Given the description of an element on the screen output the (x, y) to click on. 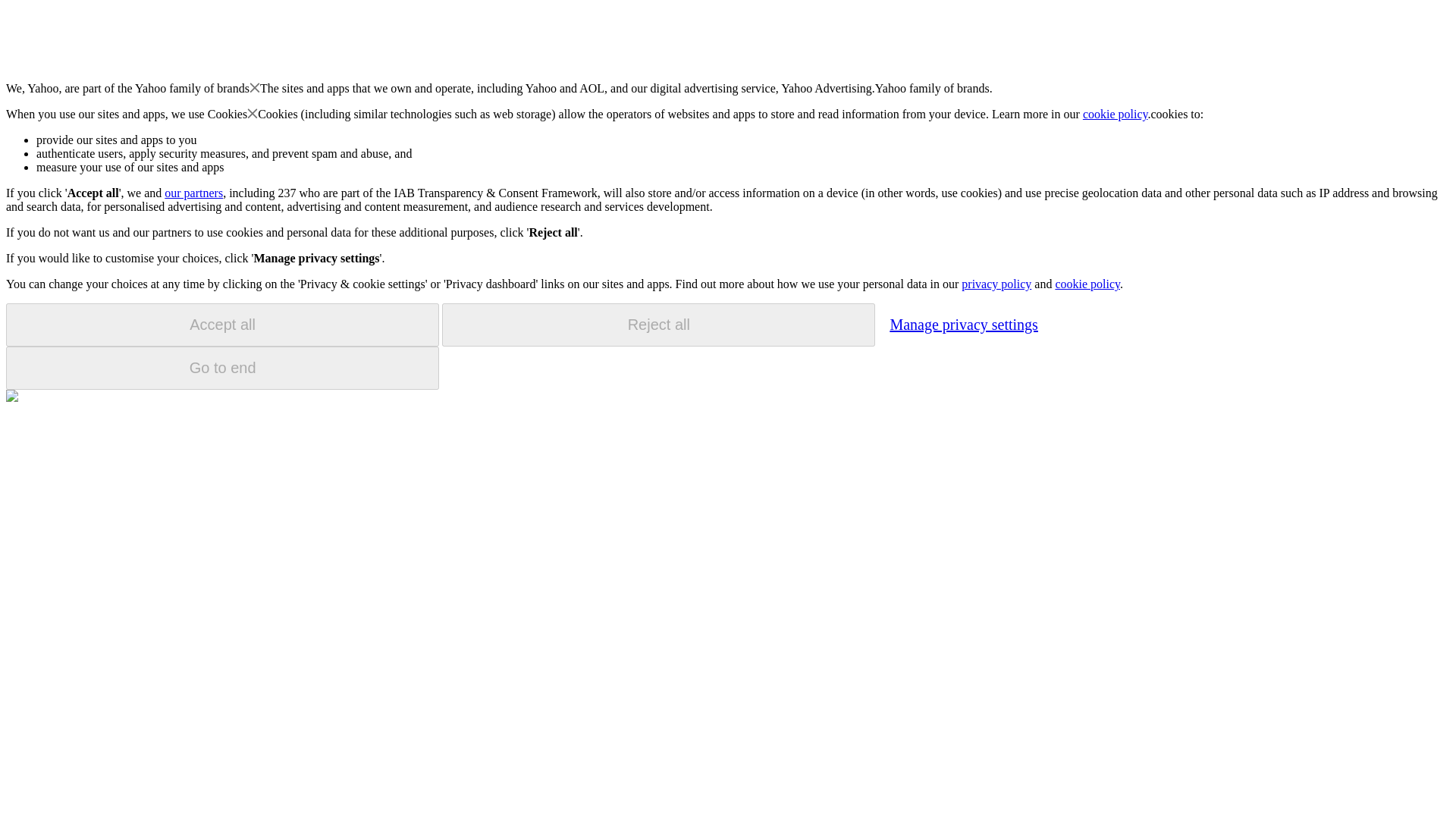
cookie policy (1086, 283)
cookie policy (1115, 113)
privacy policy (995, 283)
Reject all (658, 324)
Accept all (222, 324)
Go to end (222, 367)
our partners (193, 192)
Manage privacy settings (963, 323)
